Given the description of an element on the screen output the (x, y) to click on. 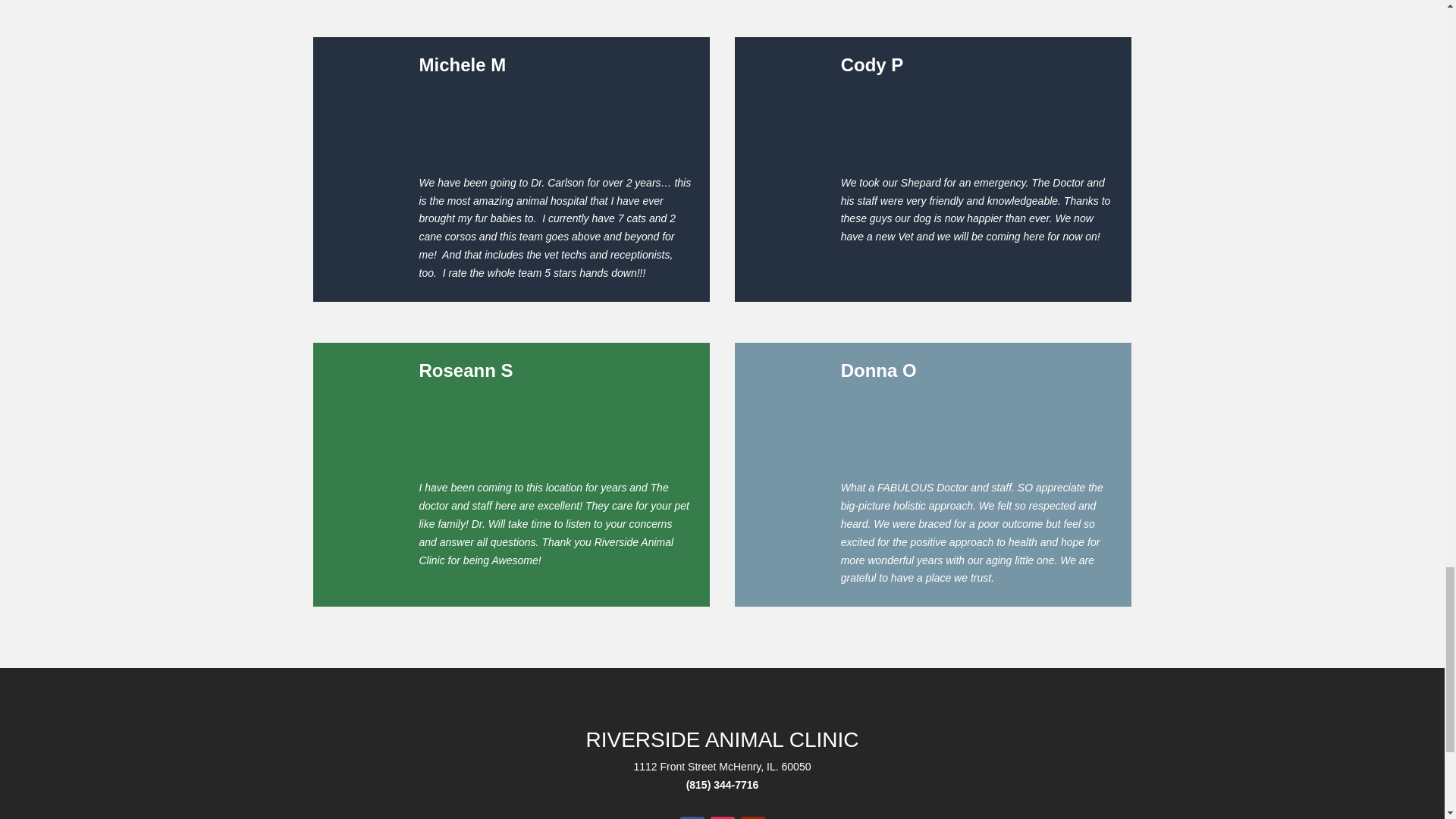
Follow on Youtube (751, 817)
Follow on Instagram (721, 817)
Follow on Facebook (691, 817)
